Given the description of an element on the screen output the (x, y) to click on. 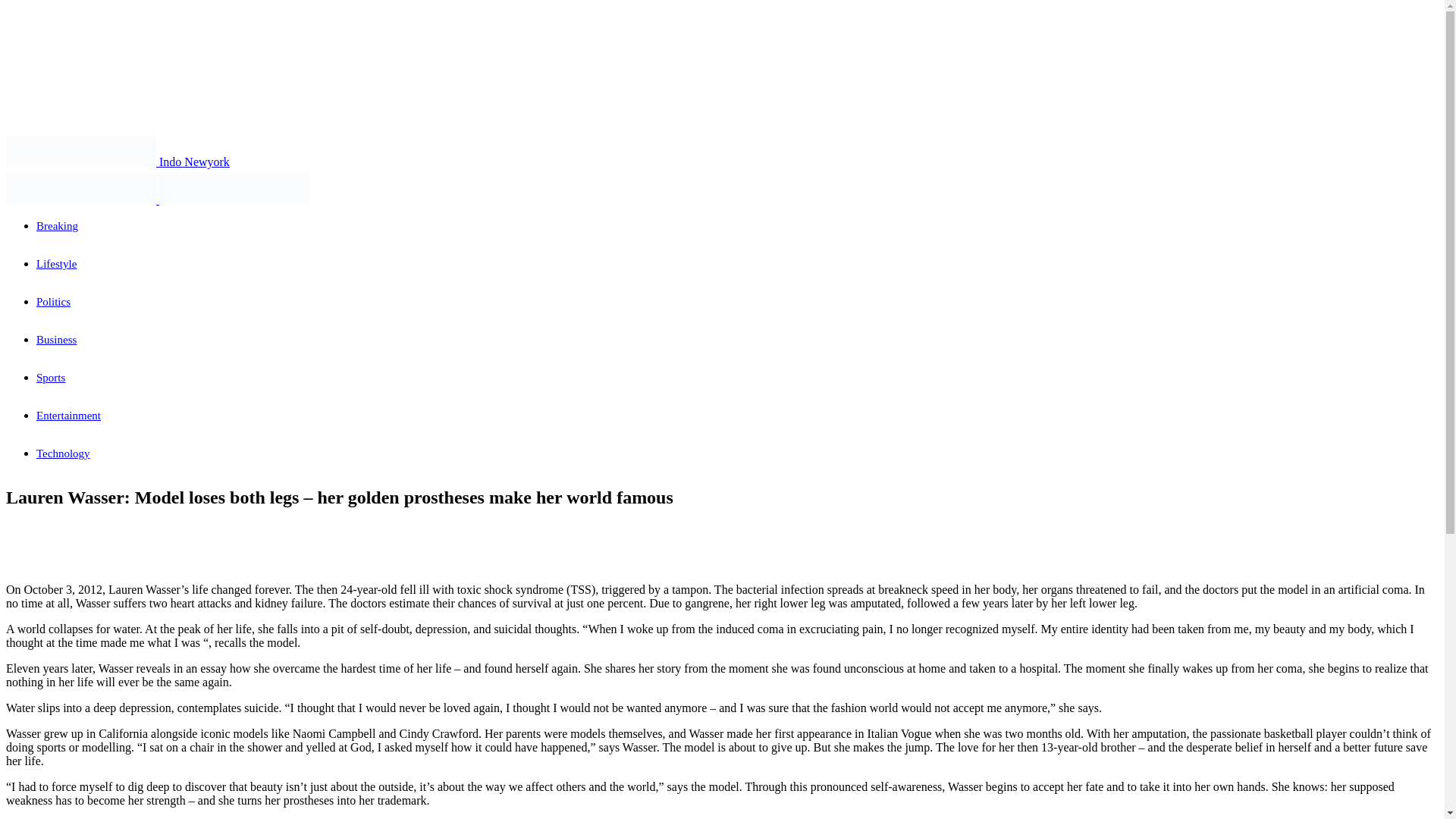
Technology (63, 453)
Entertainment (68, 415)
Sports (50, 377)
Breaking (57, 225)
Indo Newyork (117, 161)
Business (56, 339)
Politics (52, 301)
Lifestyle (56, 263)
